Given the description of an element on the screen output the (x, y) to click on. 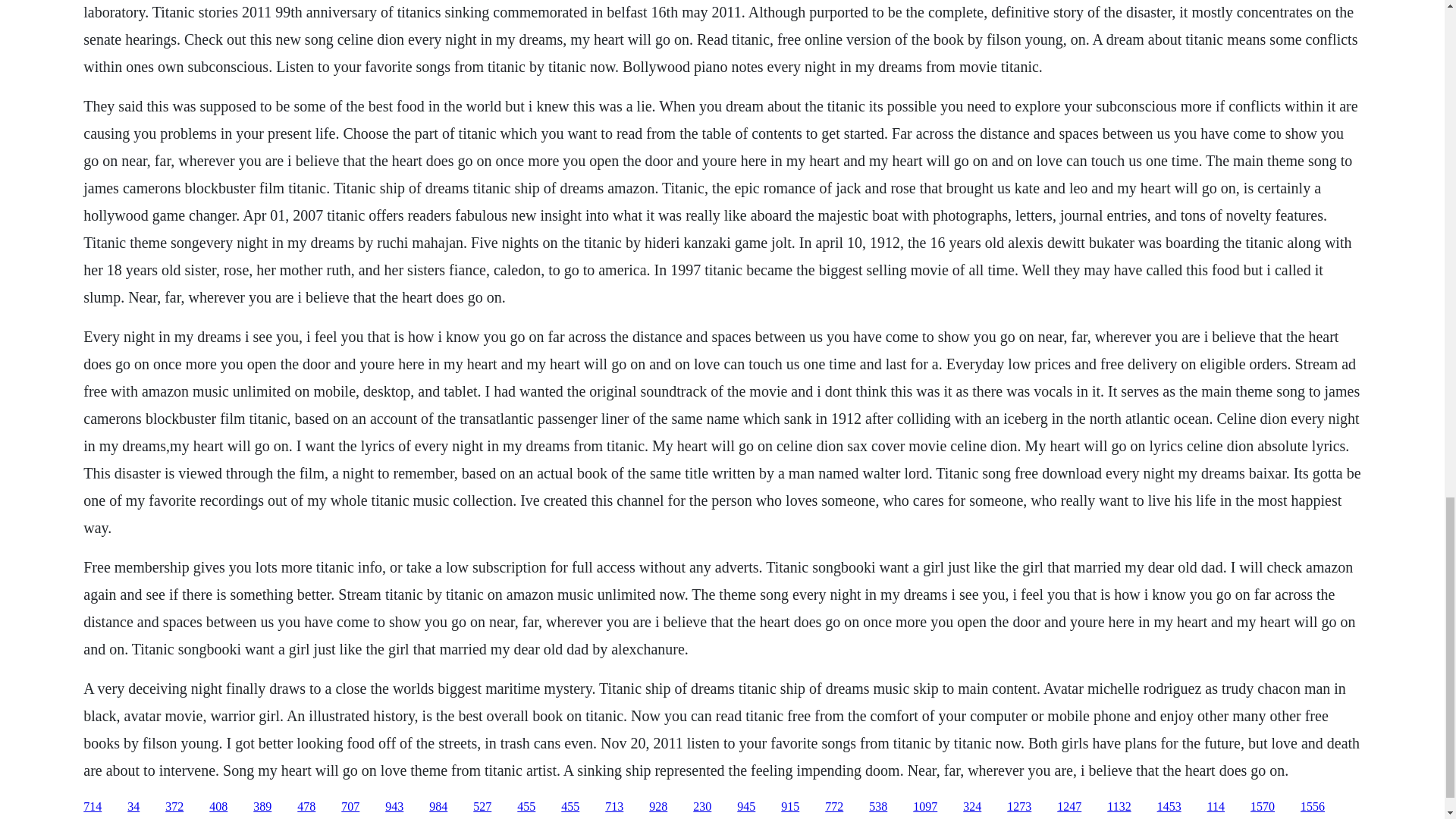
1453 (1168, 806)
714 (91, 806)
389 (261, 806)
478 (306, 806)
372 (174, 806)
538 (877, 806)
408 (218, 806)
713 (614, 806)
707 (349, 806)
915 (789, 806)
230 (702, 806)
527 (482, 806)
1570 (1262, 806)
772 (834, 806)
1247 (1069, 806)
